Given the description of an element on the screen output the (x, y) to click on. 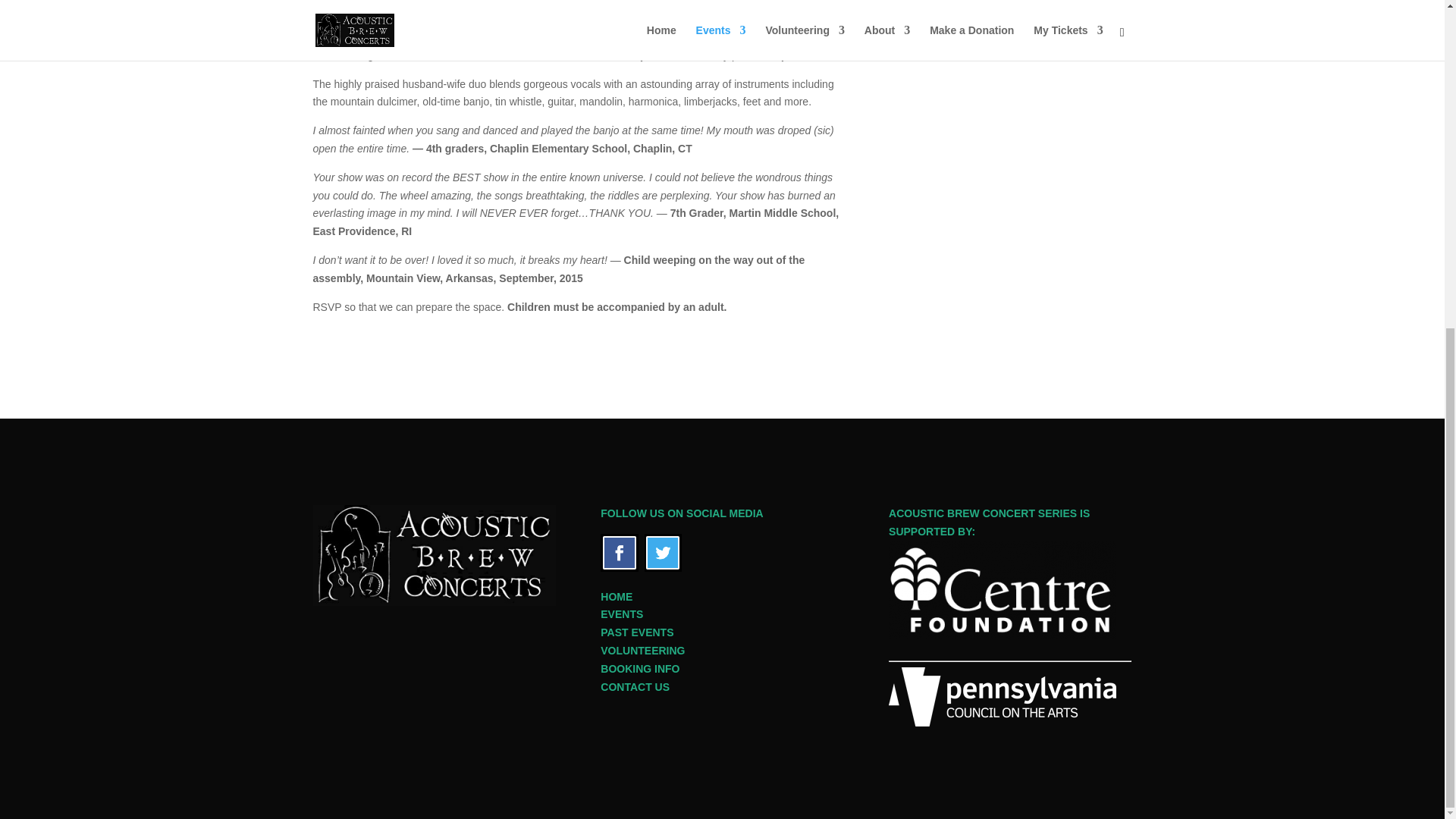
Acoustic Brew Concerts Home Page (615, 596)
Booking Information (639, 668)
Acoustic Brew Past Events (635, 632)
Acoustic Brew Twitter (663, 567)
atwater-donnelly (578, 12)
Contact Acoustic Brew Concerts (634, 686)
Acoustic Brew Events (621, 613)
Acoustic Brew Facebook Page (619, 567)
Volunteering (641, 650)
Acoustic-Brew-logo (433, 555)
Centre Foundation (1002, 635)
Pennsylvania Council on the Arts (1002, 722)
